Given the description of an element on the screen output the (x, y) to click on. 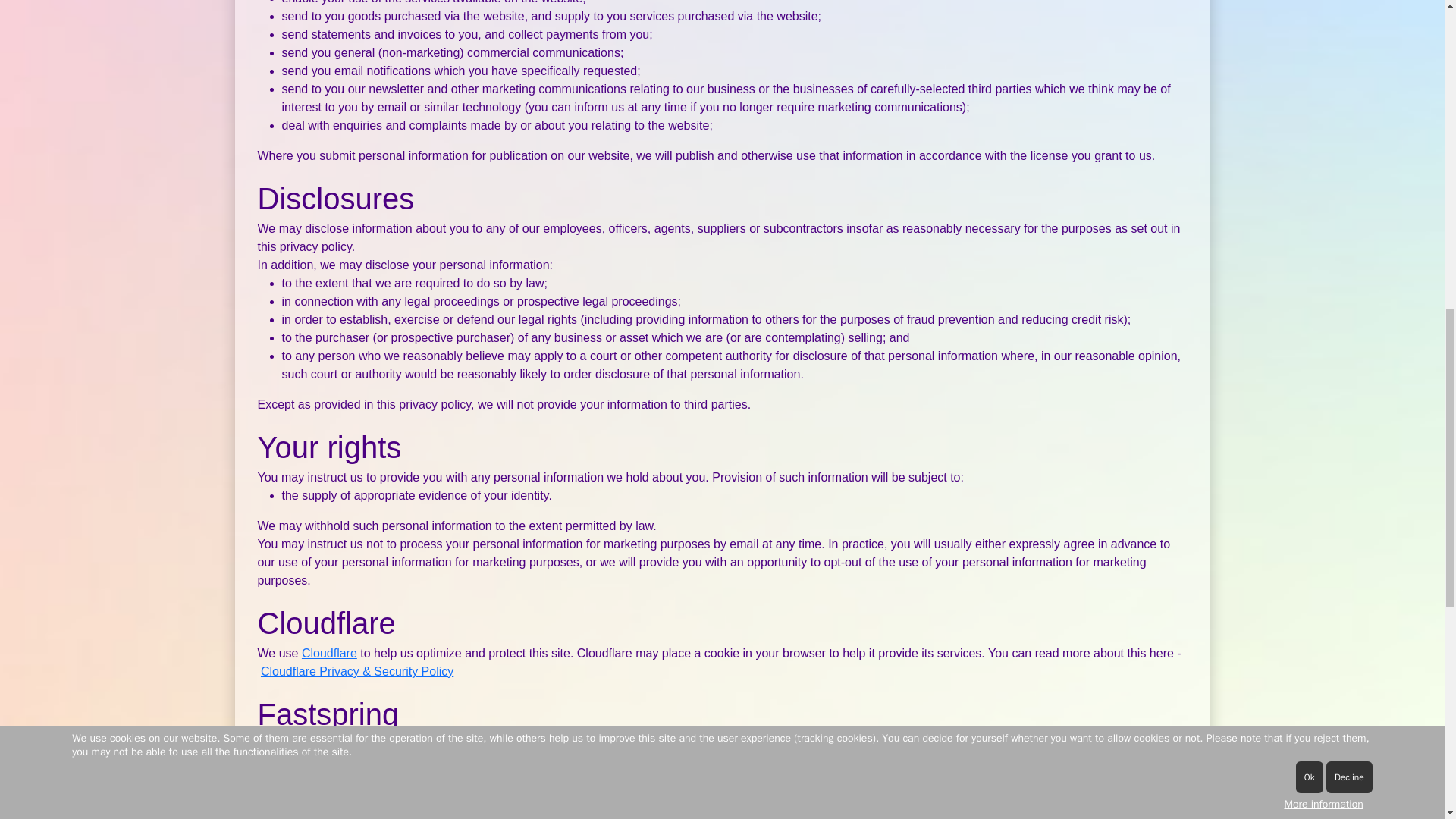
Cloudflare (328, 653)
Fastspring (329, 744)
FastSpring Privacy Policy (656, 744)
Cloudflare (328, 653)
fastspring (329, 744)
